Given the description of an element on the screen output the (x, y) to click on. 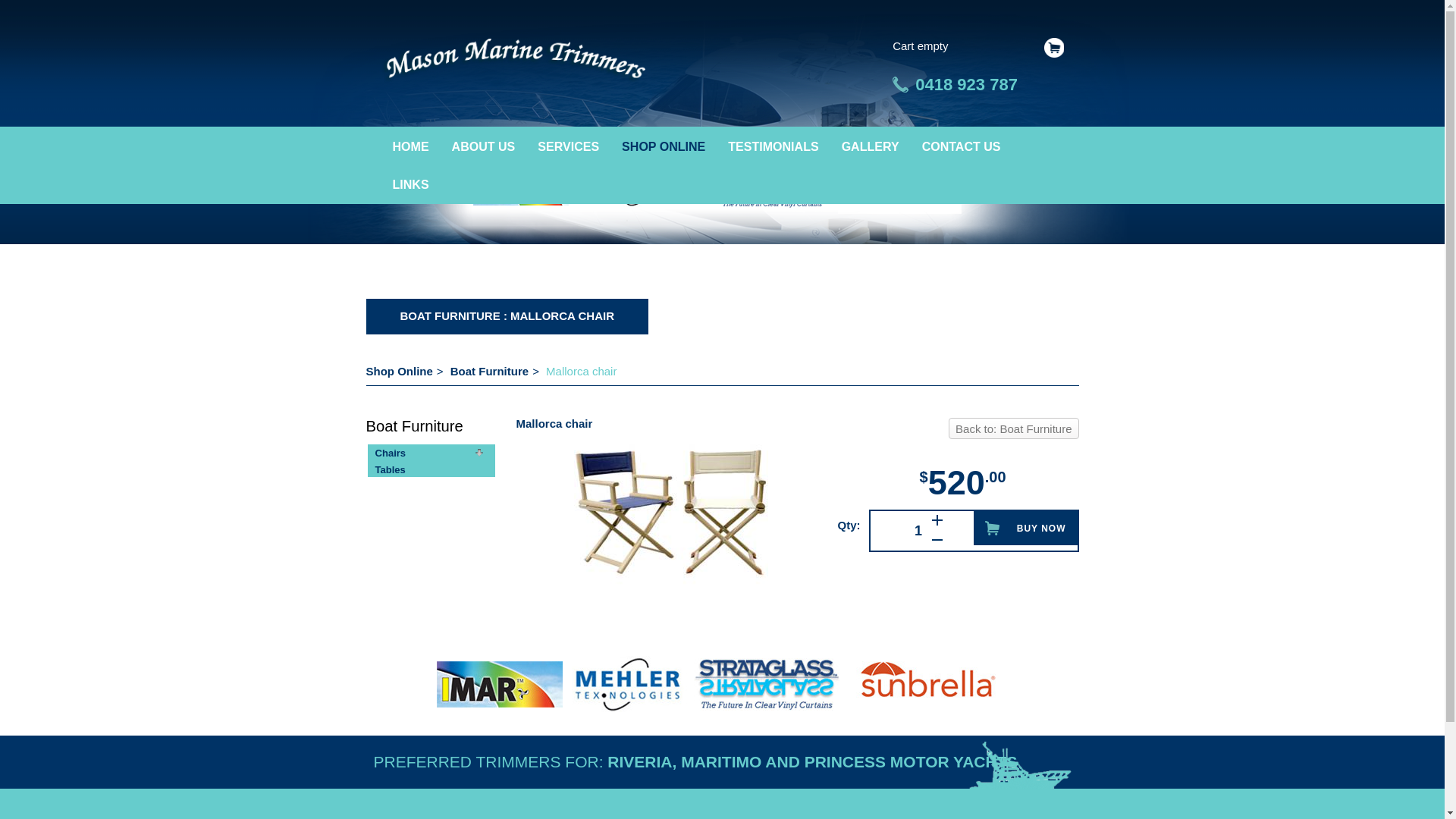
Boat Furniture : Mallorca chairMason Marine Trimming Element type: hover (512, 59)
Chairs Element type: text (389, 452)
1 Element type: text (896, 530)
SHOP ONLINE Element type: text (663, 146)
Tables Element type: text (389, 469)
Boat Furniture Element type: text (489, 370)
GALLERY Element type: text (870, 146)
Shop Online Element type: text (398, 370)
TESTIMONIALS Element type: text (772, 146)
Buy Now Element type: hover (1024, 528)
LINKS Element type: text (409, 184)
SERVICES Element type: text (568, 146)
CONTACT US Element type: text (961, 146)
Buy Now Element type: text (1024, 528)
Back to: Boat Furniture Element type: text (1013, 427)
ABOUT US Element type: text (483, 146)
HOME Element type: text (409, 146)
